Given the description of an element on the screen output the (x, y) to click on. 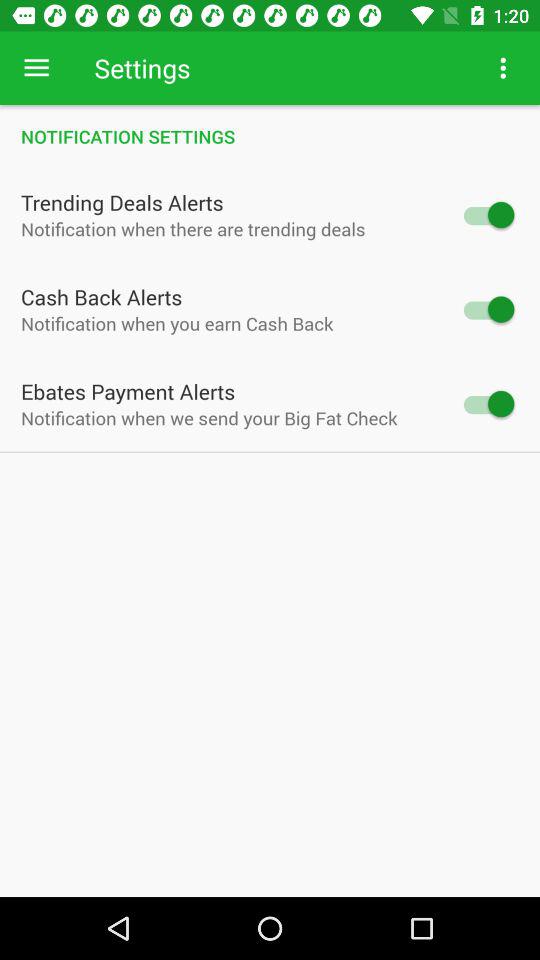
toggle payment alerts (487, 403)
